Given the description of an element on the screen output the (x, y) to click on. 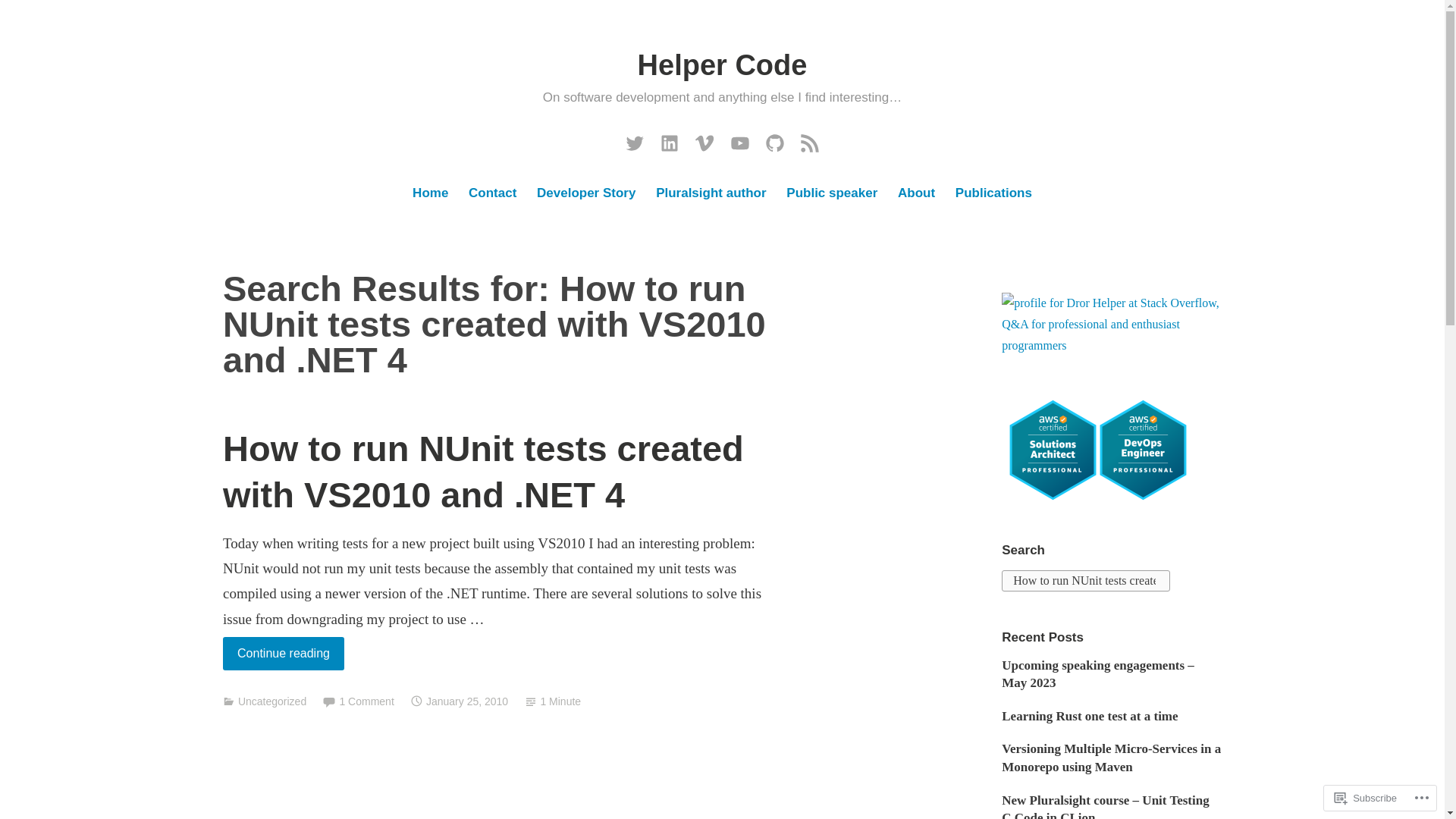
January 25, 2010 (467, 701)
Developer Story (585, 193)
1 Comment (366, 701)
Contact (491, 193)
Pluralsight author (711, 193)
Publications (992, 193)
Search (30, 16)
Versioning Multiple Micro-Services in a Monorepo using Maven (1111, 757)
How to run NUnit tests created with VS2010 and .NET 4 (1085, 580)
About (916, 193)
Learning Rust one test at a time (1089, 716)
Home (430, 193)
Public speaker (832, 193)
Helper Code (722, 65)
How to run NUnit tests created with VS2010 and .NET 4 (483, 471)
